Given the description of an element on the screen output the (x, y) to click on. 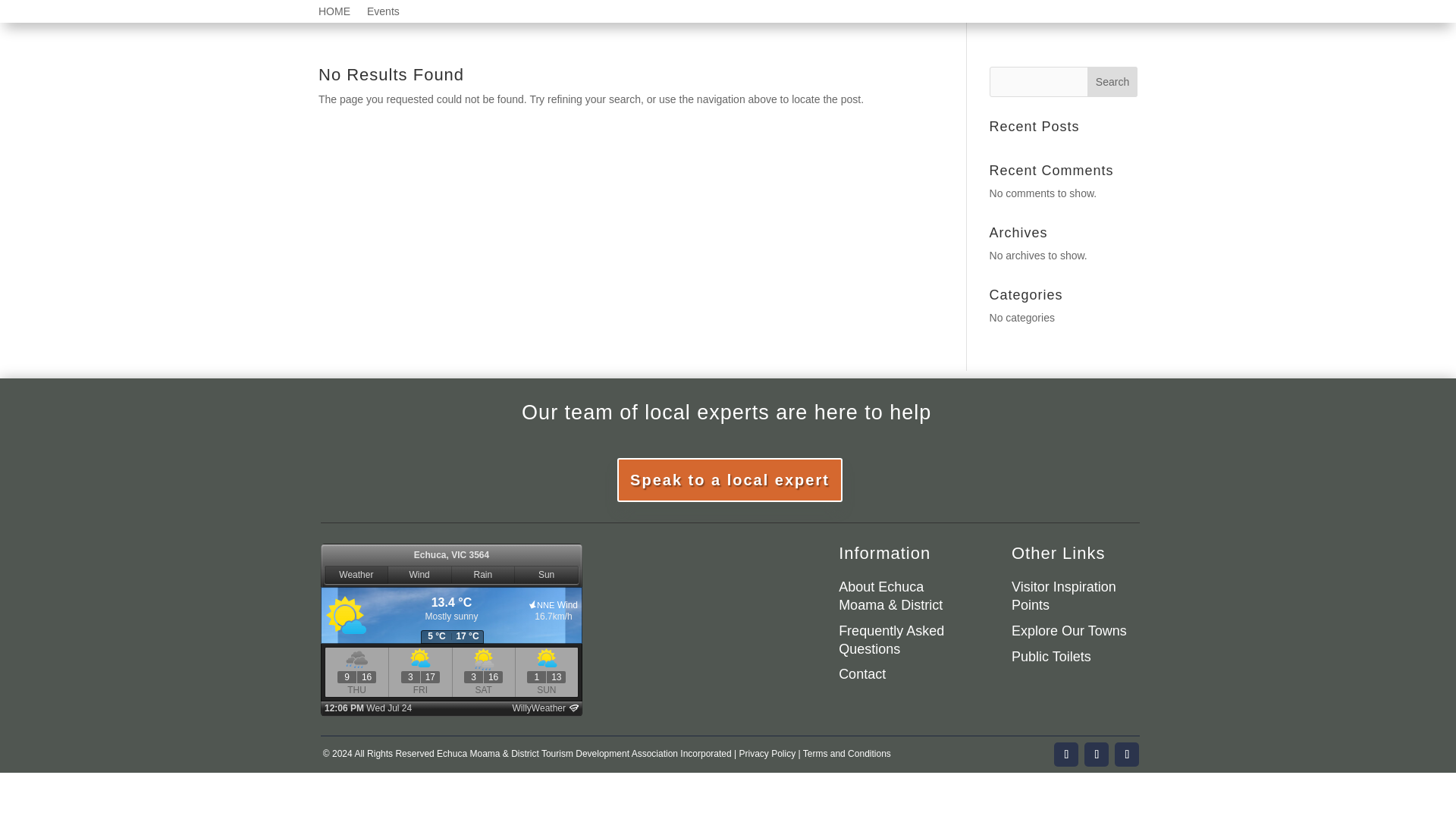
Privacy Policy (766, 753)
Events (382, 13)
Follow on Facebook (1066, 754)
Speak to a local expert (730, 479)
Search (1112, 81)
Terms and Conditions (847, 753)
Follow on Youtube (1126, 754)
Terms and Conditions (847, 753)
Follow on Instagram (1096, 754)
Privacy Policy (766, 753)
HOME (334, 13)
